Given the description of an element on the screen output the (x, y) to click on. 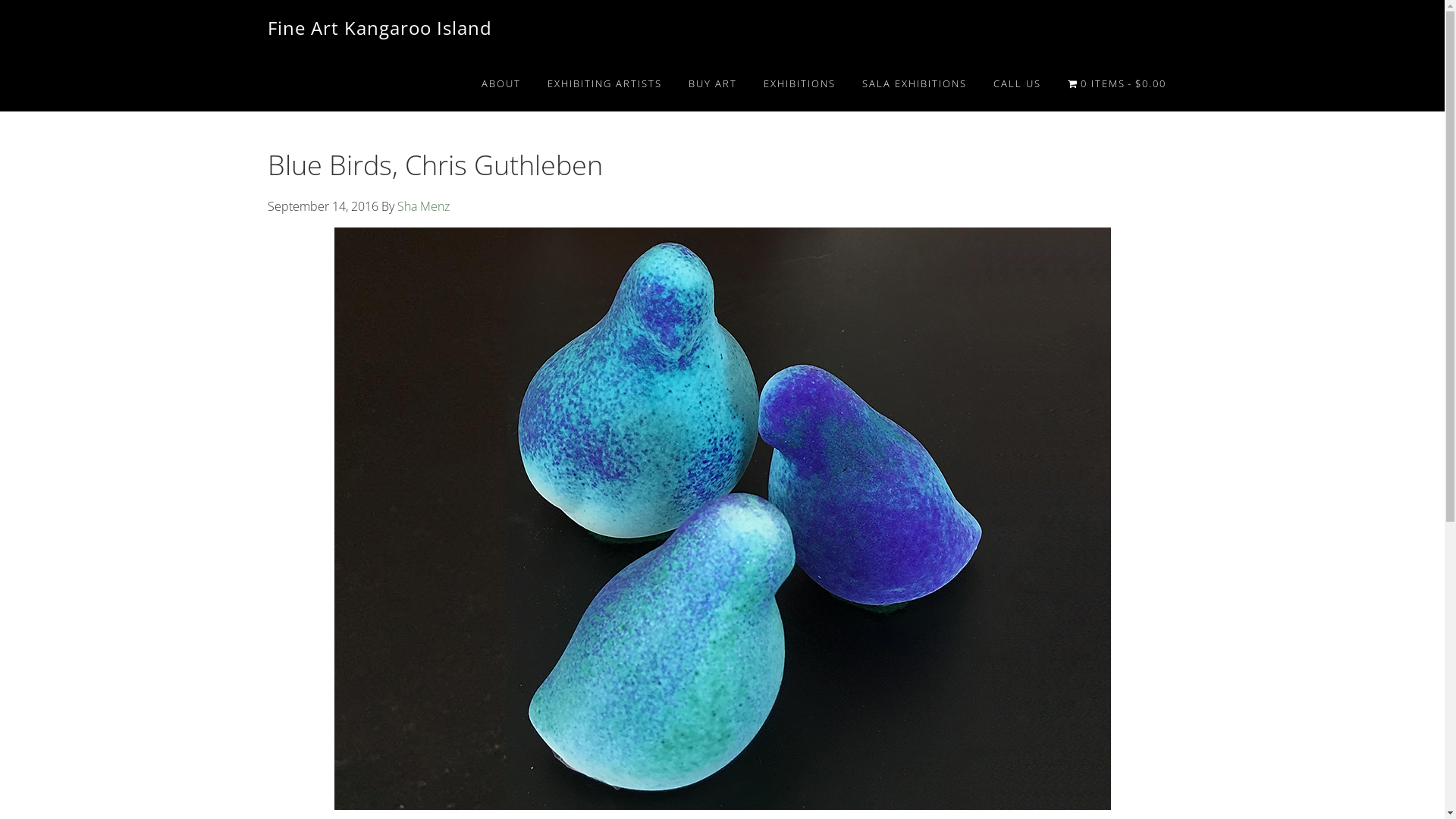
EXHIBITING ARTISTS Element type: text (604, 83)
BUY ART Element type: text (712, 83)
ABOUT Element type: text (501, 83)
Fine Art Kangaroo Island Element type: text (378, 27)
0 ITEMS$0.00 Element type: text (1116, 83)
CALL US Element type: text (1017, 83)
EXHIBITIONS Element type: text (799, 83)
Sha Menz Element type: text (423, 205)
Skip to primary navigation Element type: text (0, 0)
SALA EXHIBITIONS Element type: text (914, 83)
